Given the description of an element on the screen output the (x, y) to click on. 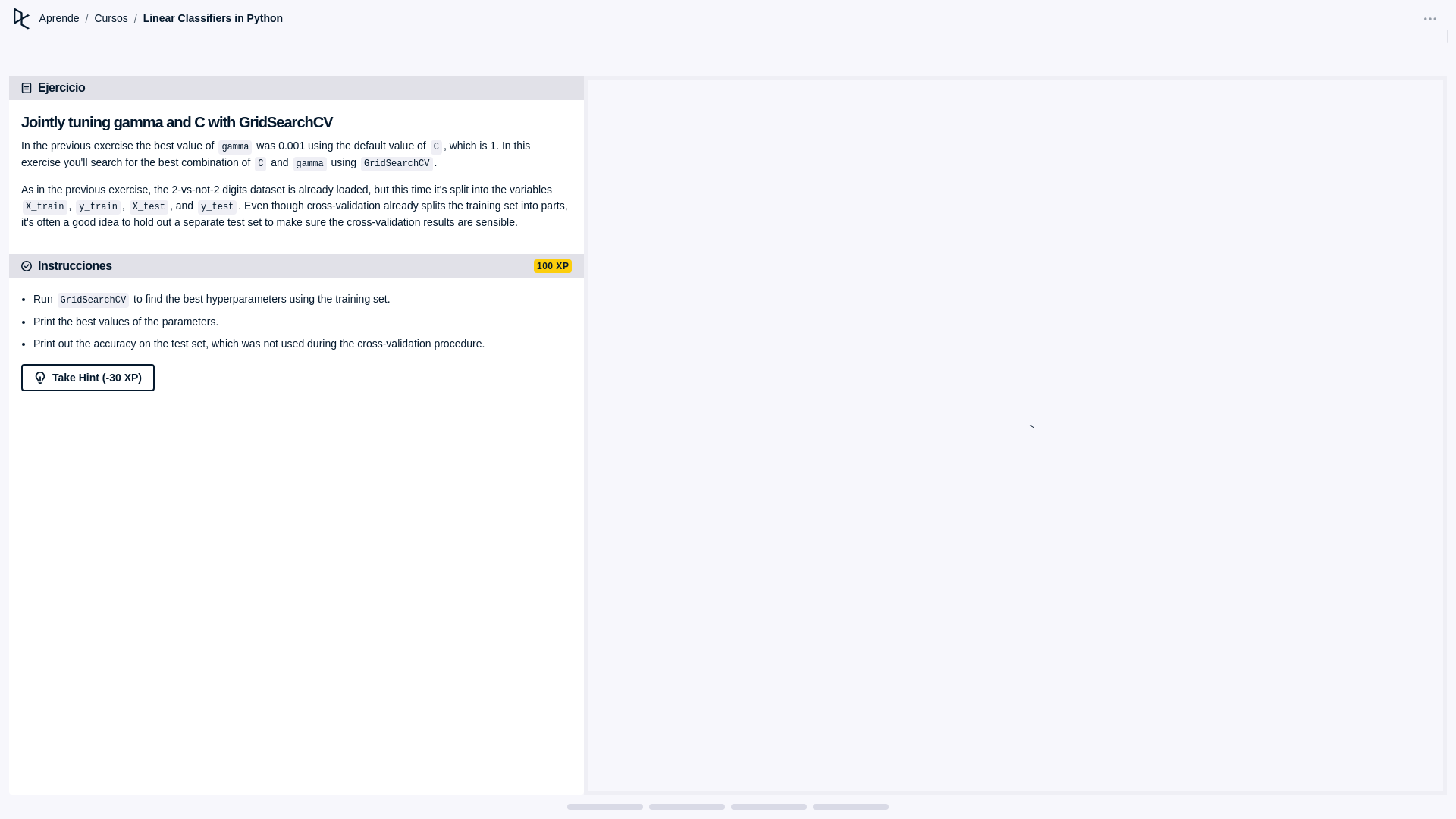
Cursos (110, 18)
Aprende (59, 18)
Linear Classifiers in Python (212, 18)
